Given the description of an element on the screen output the (x, y) to click on. 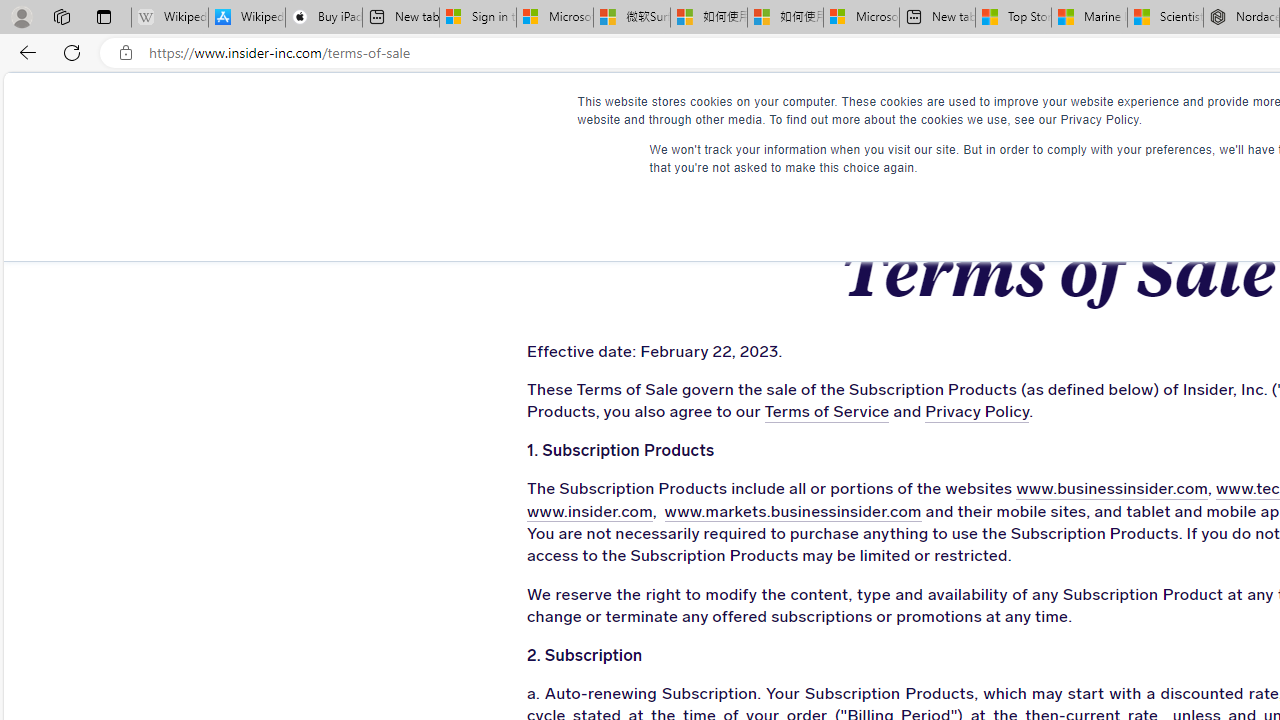
Privacy Policy (977, 412)
www.insider.com (589, 511)
www.businessinsider.com (1112, 489)
Insider Inc. (1056, 111)
Buy iPad - Apple (323, 17)
Sign in to your Microsoft account (477, 17)
ADVERTISE WITH US (786, 110)
www.markets.businessinsider.com (792, 511)
WHO WE ARE (610, 110)
Insider Inc. (1057, 111)
Marine life - MSN (1089, 17)
